Given the description of an element on the screen output the (x, y) to click on. 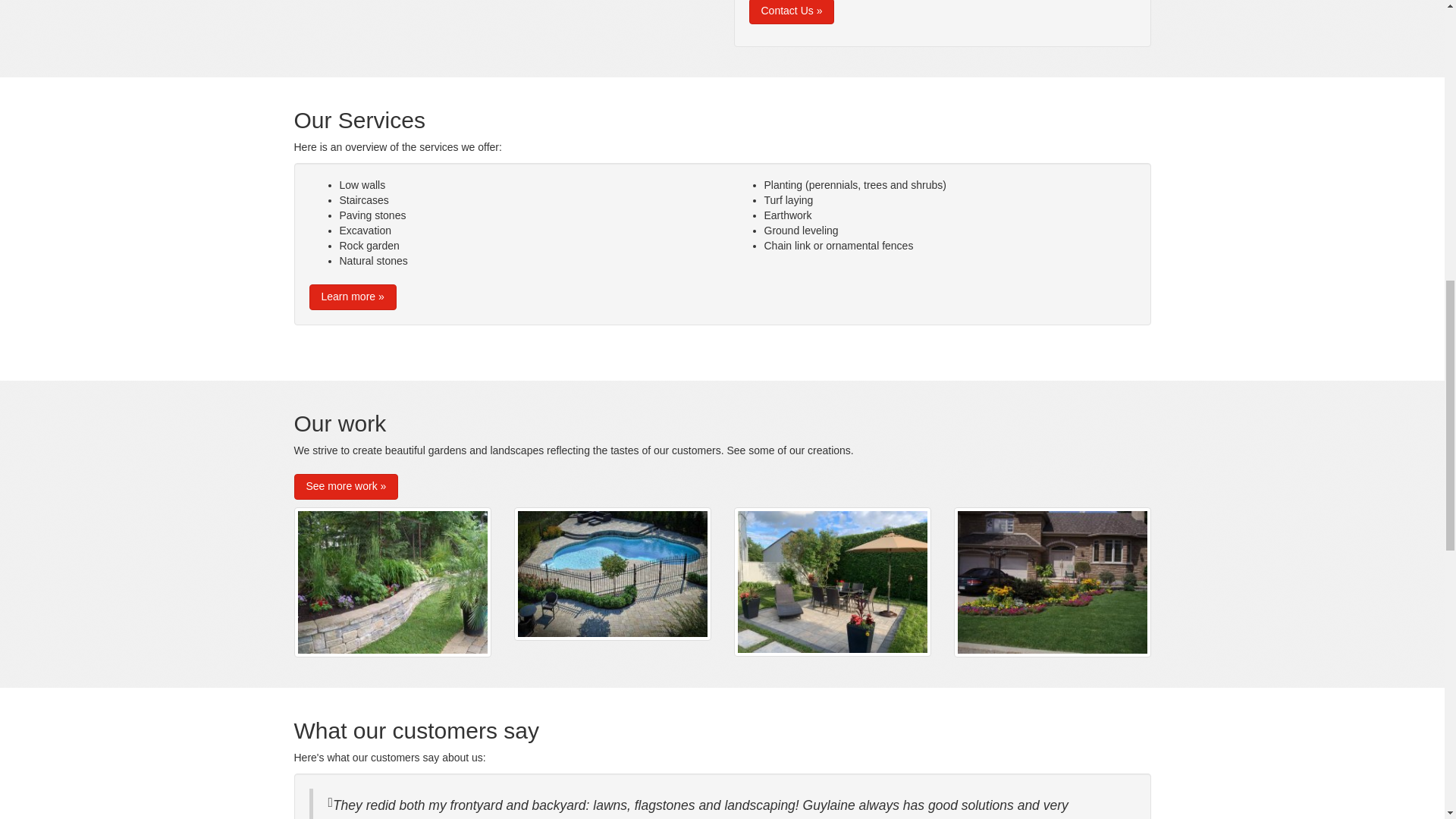
0007 (393, 581)
0033 (1052, 581)
0004 (612, 573)
